Given the description of an element on the screen output the (x, y) to click on. 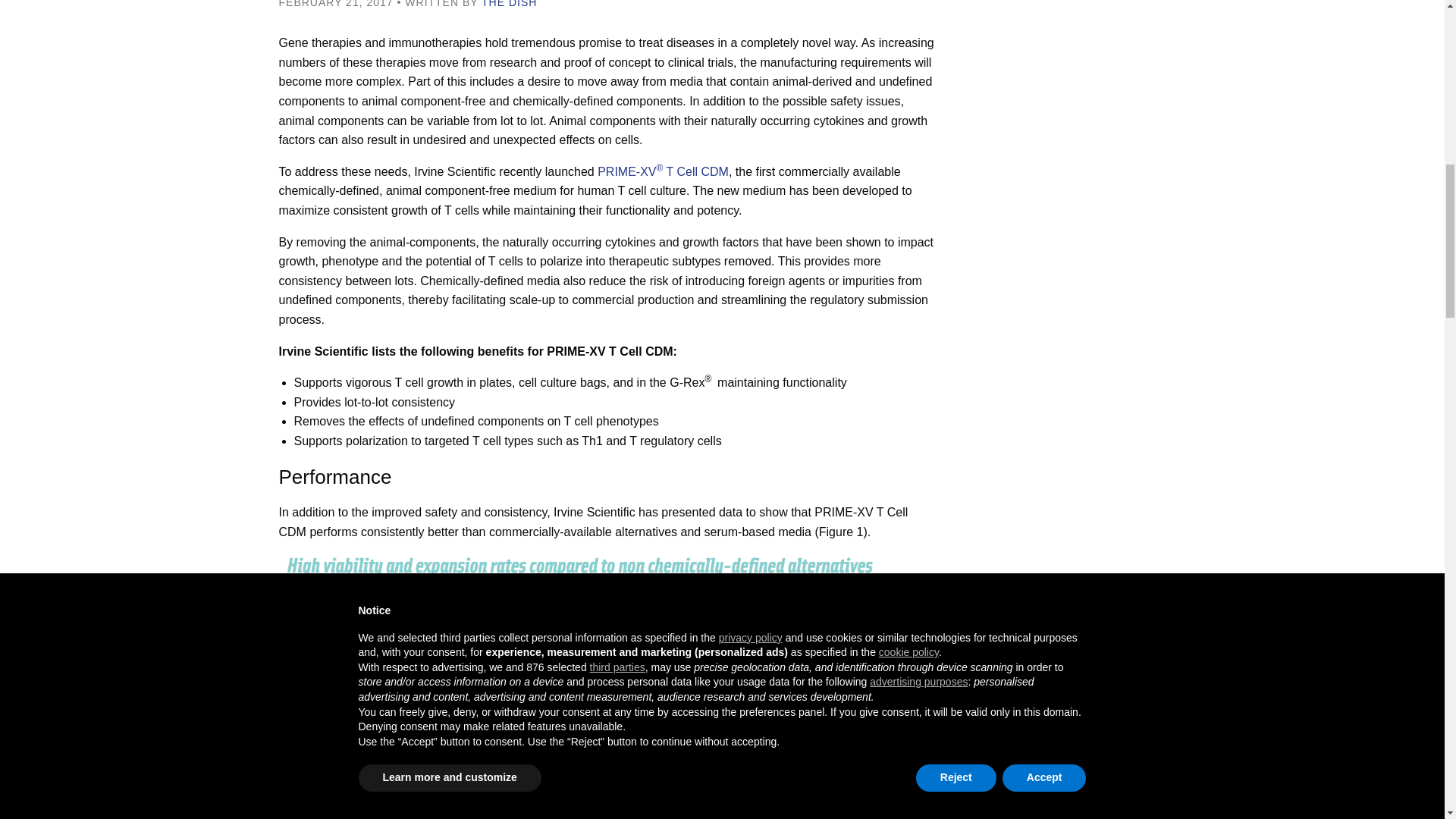
THE DISH (509, 4)
